Given the description of an element on the screen output the (x, y) to click on. 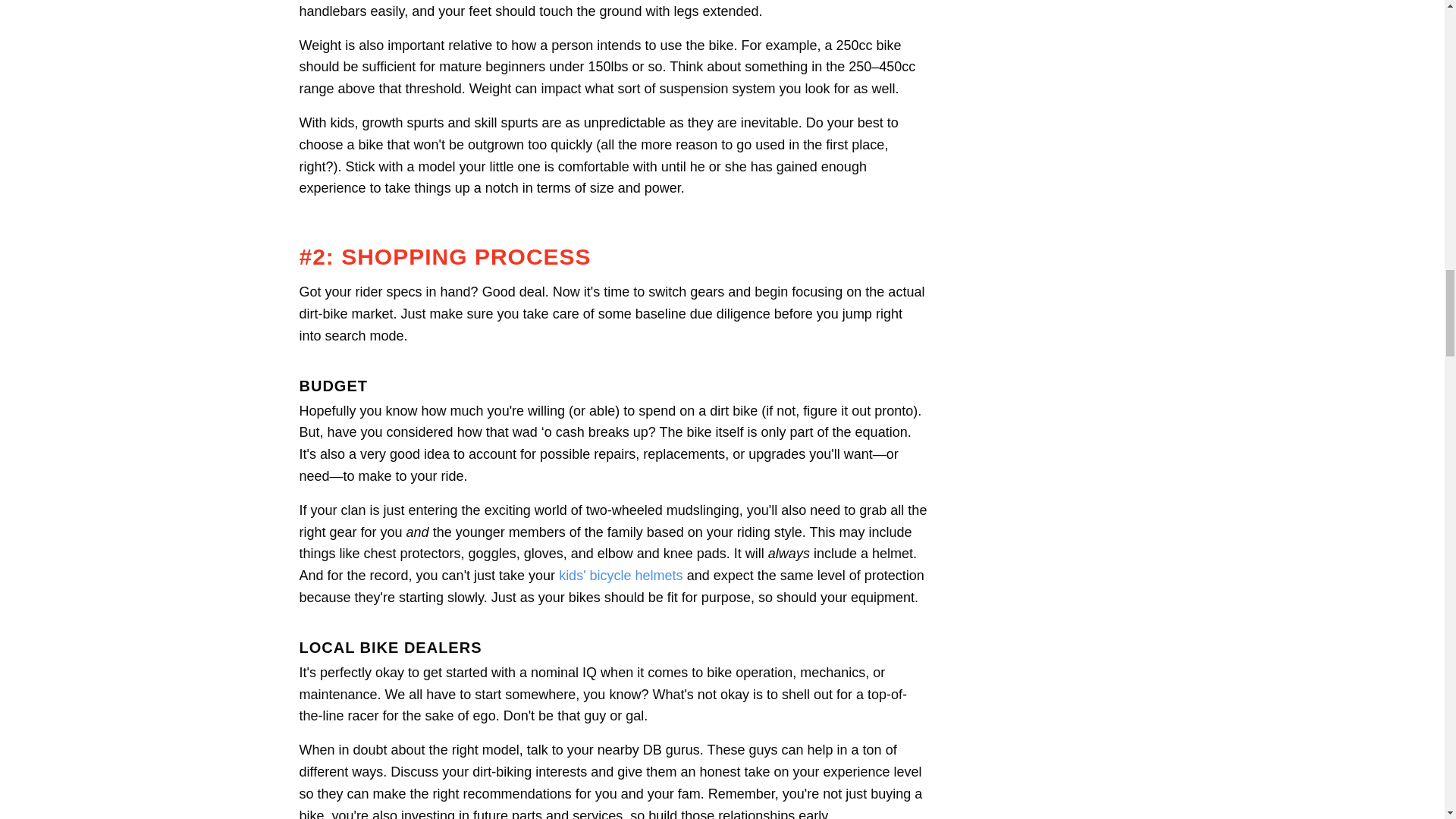
kids' bicycle helmets (620, 575)
